Given the description of an element on the screen output the (x, y) to click on. 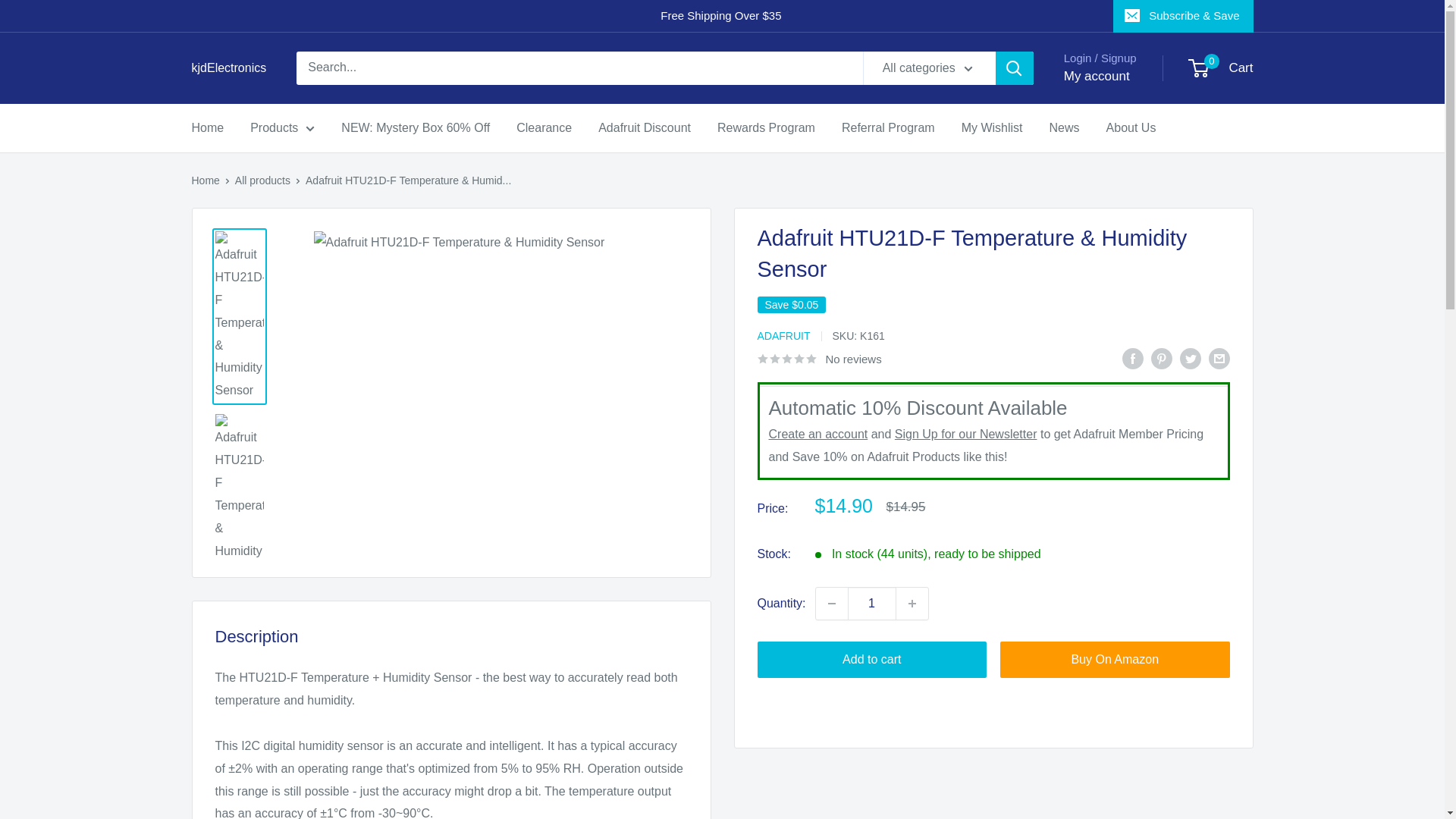
Home (207, 128)
Decrease quantity by 1 (831, 603)
My account (1096, 76)
kjdElectronics (1221, 68)
1 (228, 67)
Increase quantity by 1 (871, 603)
